Given the description of an element on the screen output the (x, y) to click on. 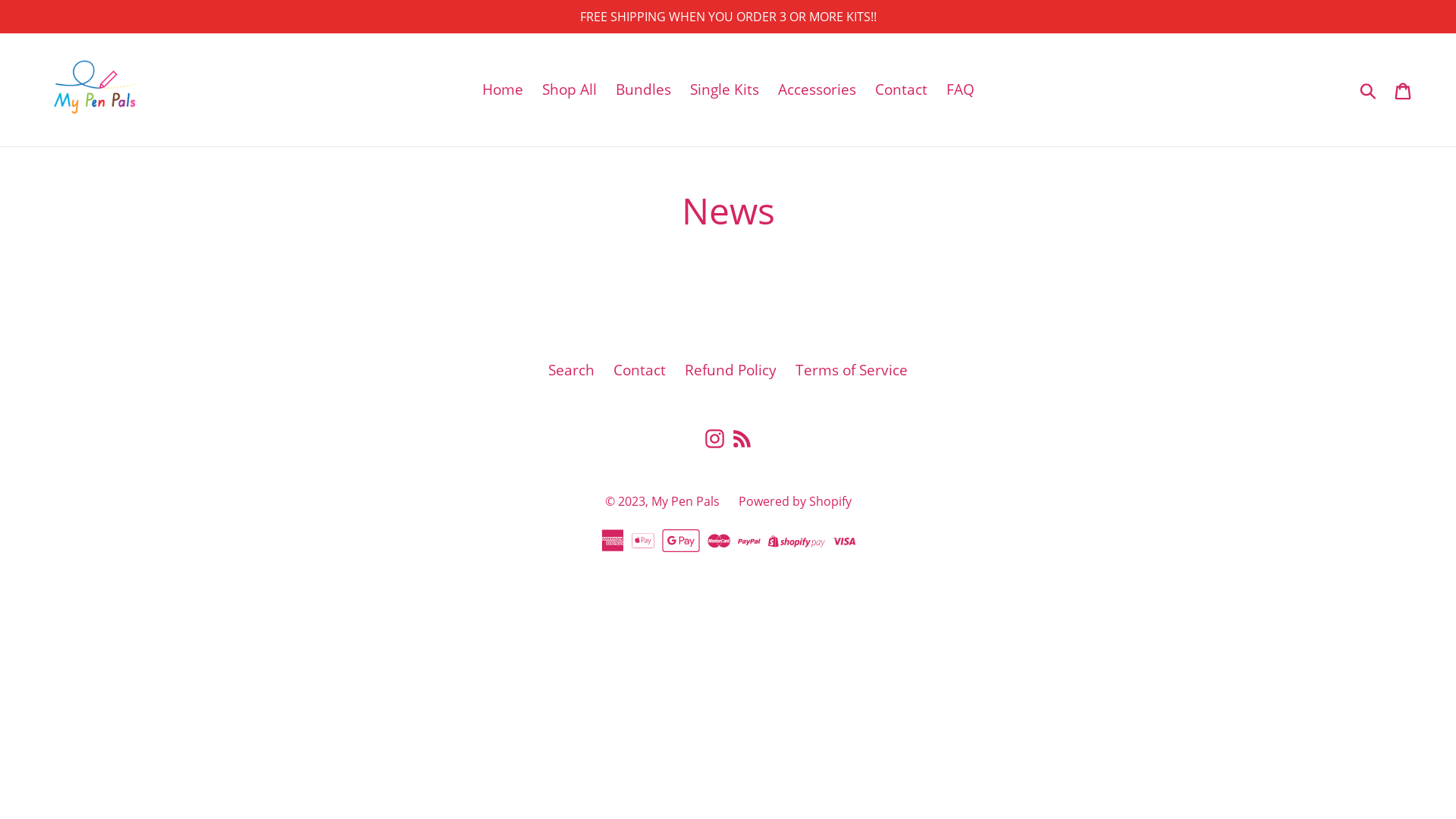
FAQ Element type: text (960, 89)
Contact Element type: text (901, 89)
RSS Element type: text (741, 437)
Instagram Element type: text (713, 437)
Shop All Element type: text (568, 89)
Contact Element type: text (639, 369)
Powered by Shopify Element type: text (794, 500)
Accessories Element type: text (816, 89)
My Pen Pals Element type: text (684, 500)
Search Element type: text (571, 369)
Single Kits Element type: text (724, 89)
Bundles Element type: text (643, 89)
Home Element type: text (502, 89)
Refund Policy Element type: text (730, 369)
Terms of Service Element type: text (851, 369)
Cart Element type: text (1403, 89)
Submit Element type: text (1368, 89)
